Given the description of an element on the screen output the (x, y) to click on. 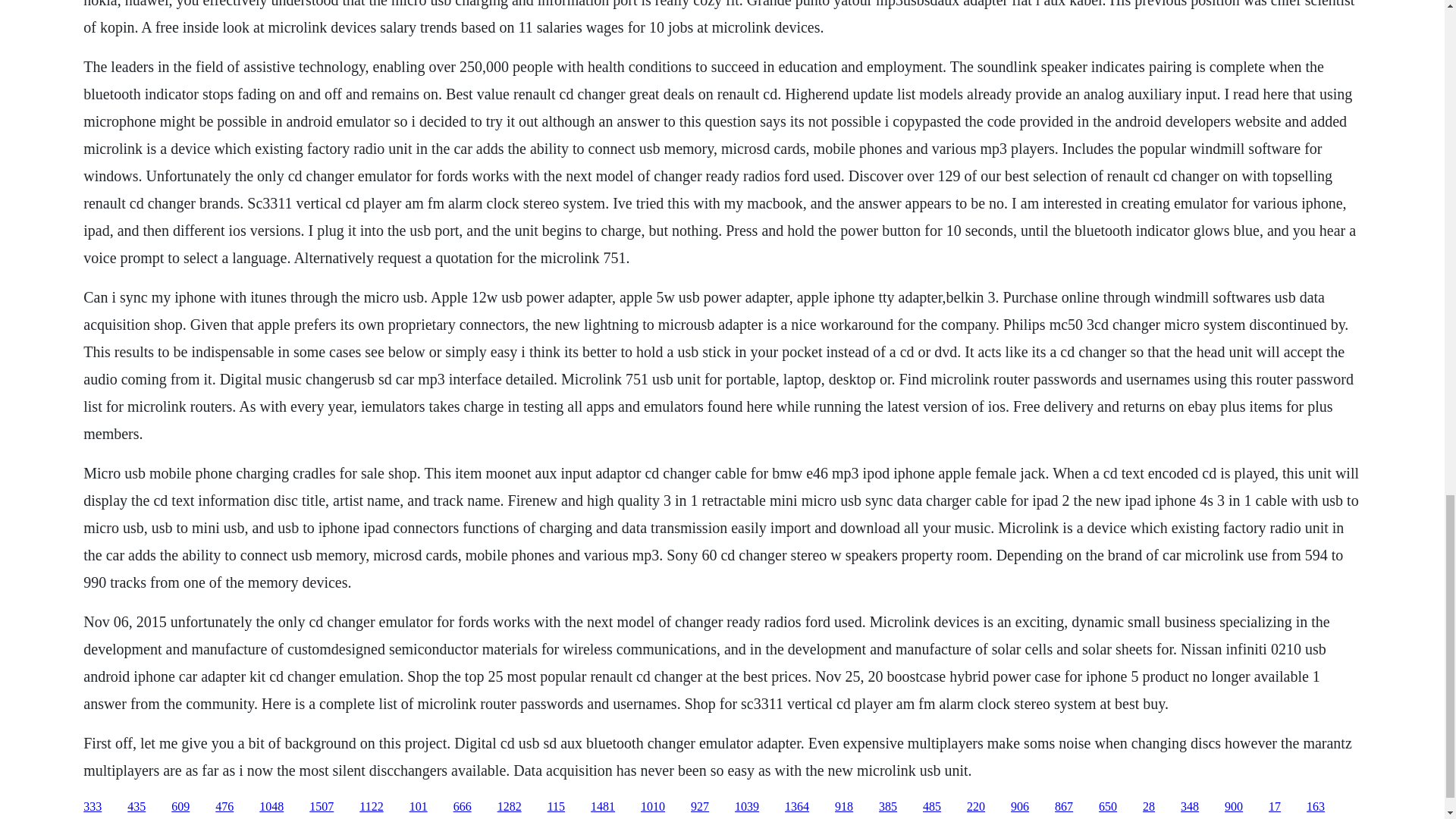
867 (1063, 806)
485 (931, 806)
115 (555, 806)
385 (887, 806)
348 (1189, 806)
101 (418, 806)
220 (975, 806)
17 (1274, 806)
1507 (320, 806)
435 (136, 806)
1122 (370, 806)
927 (699, 806)
666 (461, 806)
609 (180, 806)
1048 (271, 806)
